Given the description of an element on the screen output the (x, y) to click on. 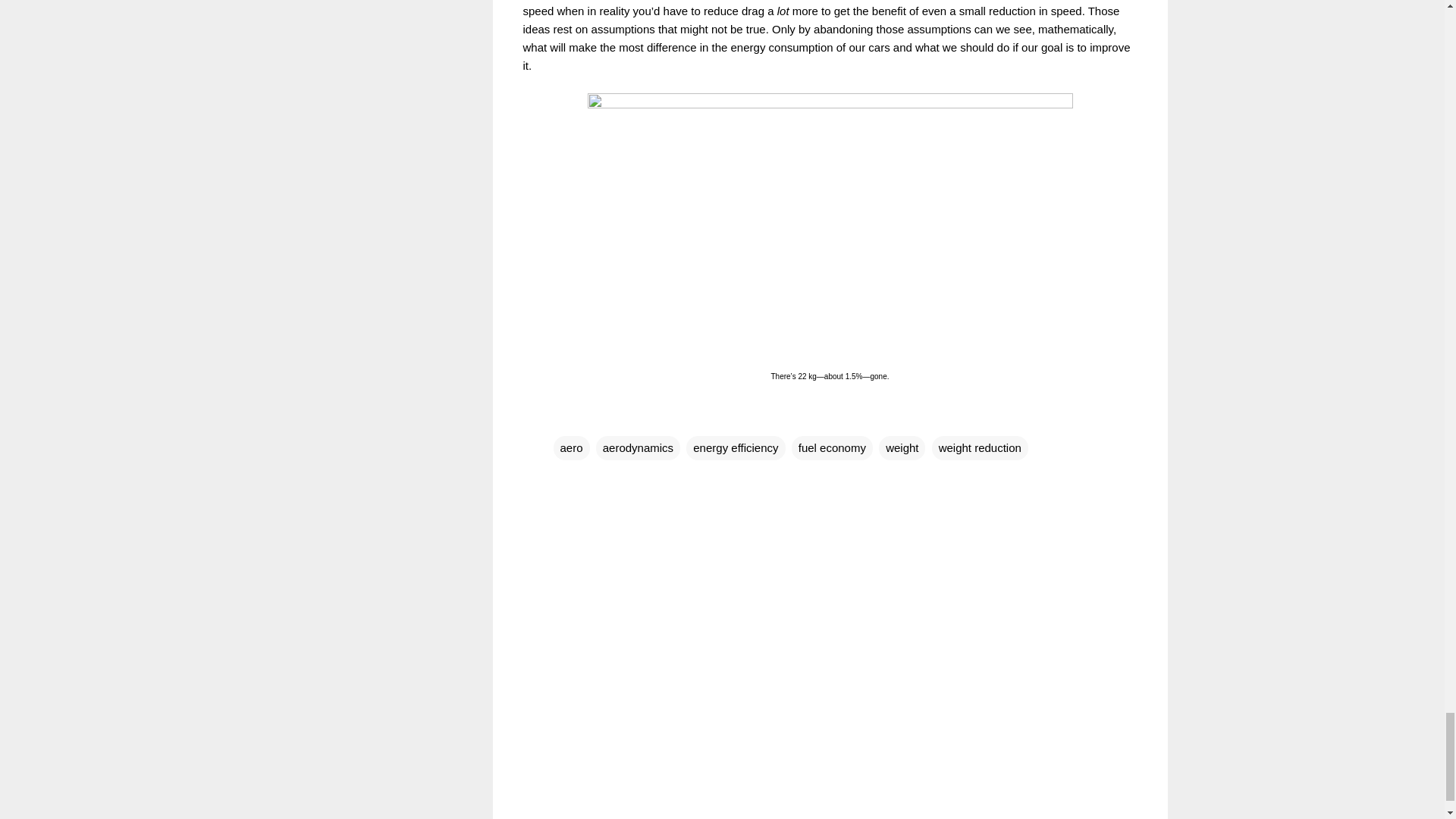
energy efficiency (734, 446)
fuel economy (832, 446)
aerodynamics (637, 446)
aero (571, 446)
weight (901, 446)
weight reduction (979, 446)
